Given the description of an element on the screen output the (x, y) to click on. 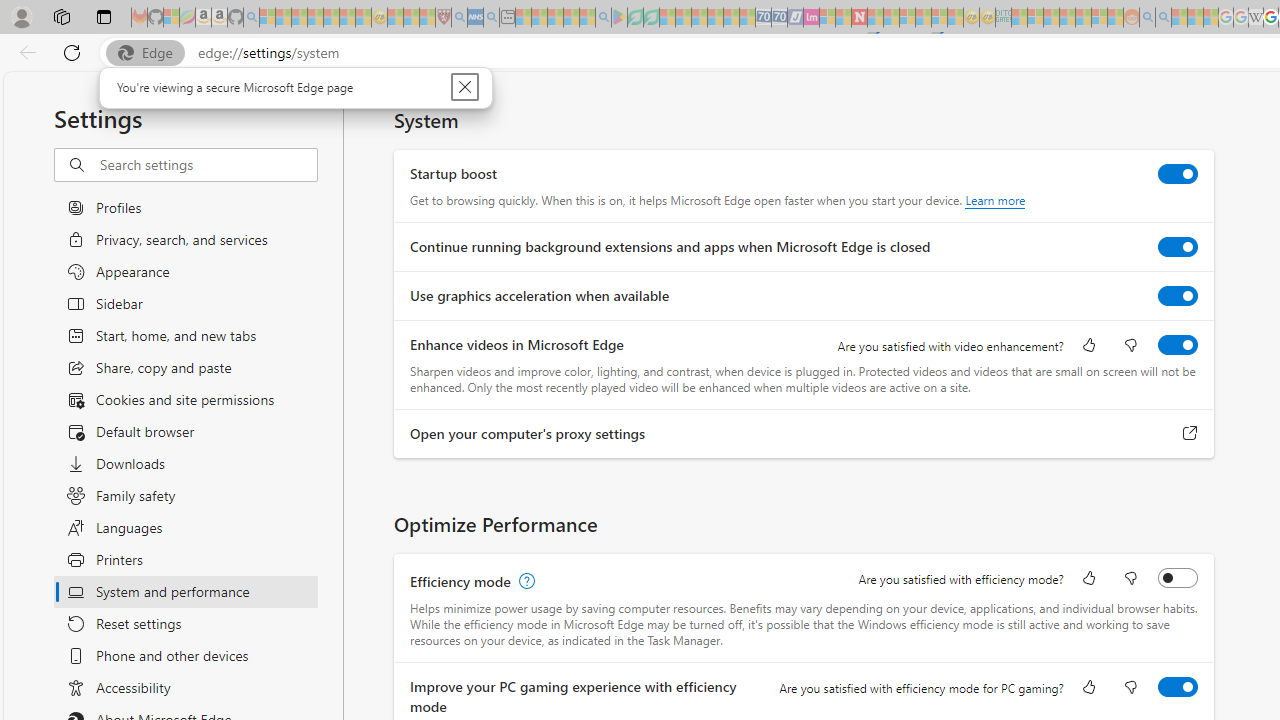
Learn more (995, 200)
Improve your PC gaming experience with efficiency mode (1178, 686)
Expert Portfolios - Sleeping (1067, 17)
google - Search - Sleeping (603, 17)
Jobs - lastminute.com Investor Portal - Sleeping (811, 17)
